Given the description of an element on the screen output the (x, y) to click on. 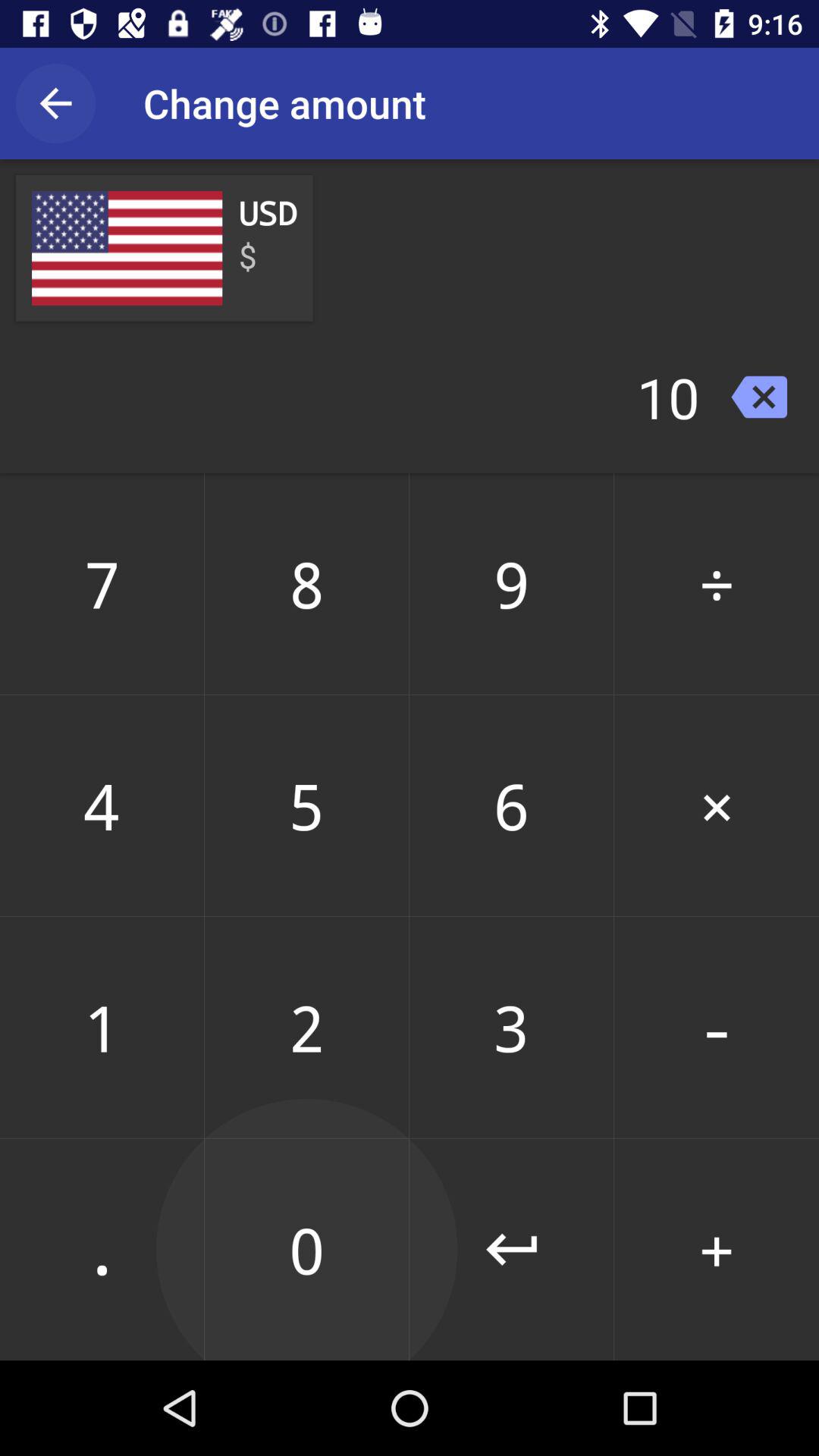
turn off item below 7 icon (102, 805)
